Given the description of an element on the screen output the (x, y) to click on. 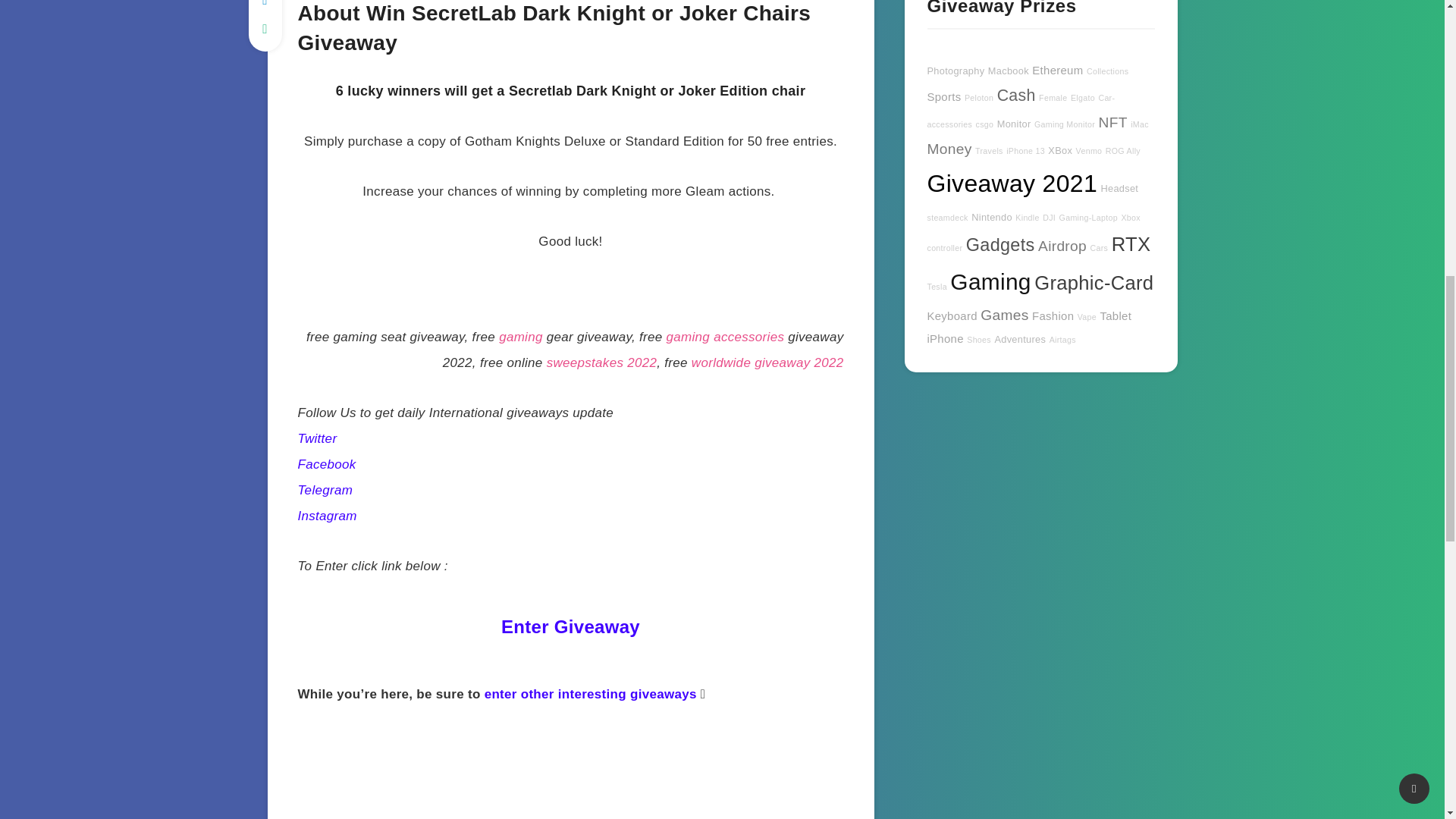
120 topics (1057, 69)
87 topics (955, 70)
233 topics (948, 148)
48 topics (984, 123)
136 topics (943, 96)
giveaway 2022 (798, 362)
20 topics (1020, 110)
48 topics (1063, 123)
sweepstakes 2022 (602, 362)
108 topics (1008, 70)
47 topics (1053, 97)
56 topics (1013, 123)
15 topics (1082, 97)
gaming accessories (725, 336)
gaming (523, 336)
